Given the description of an element on the screen output the (x, y) to click on. 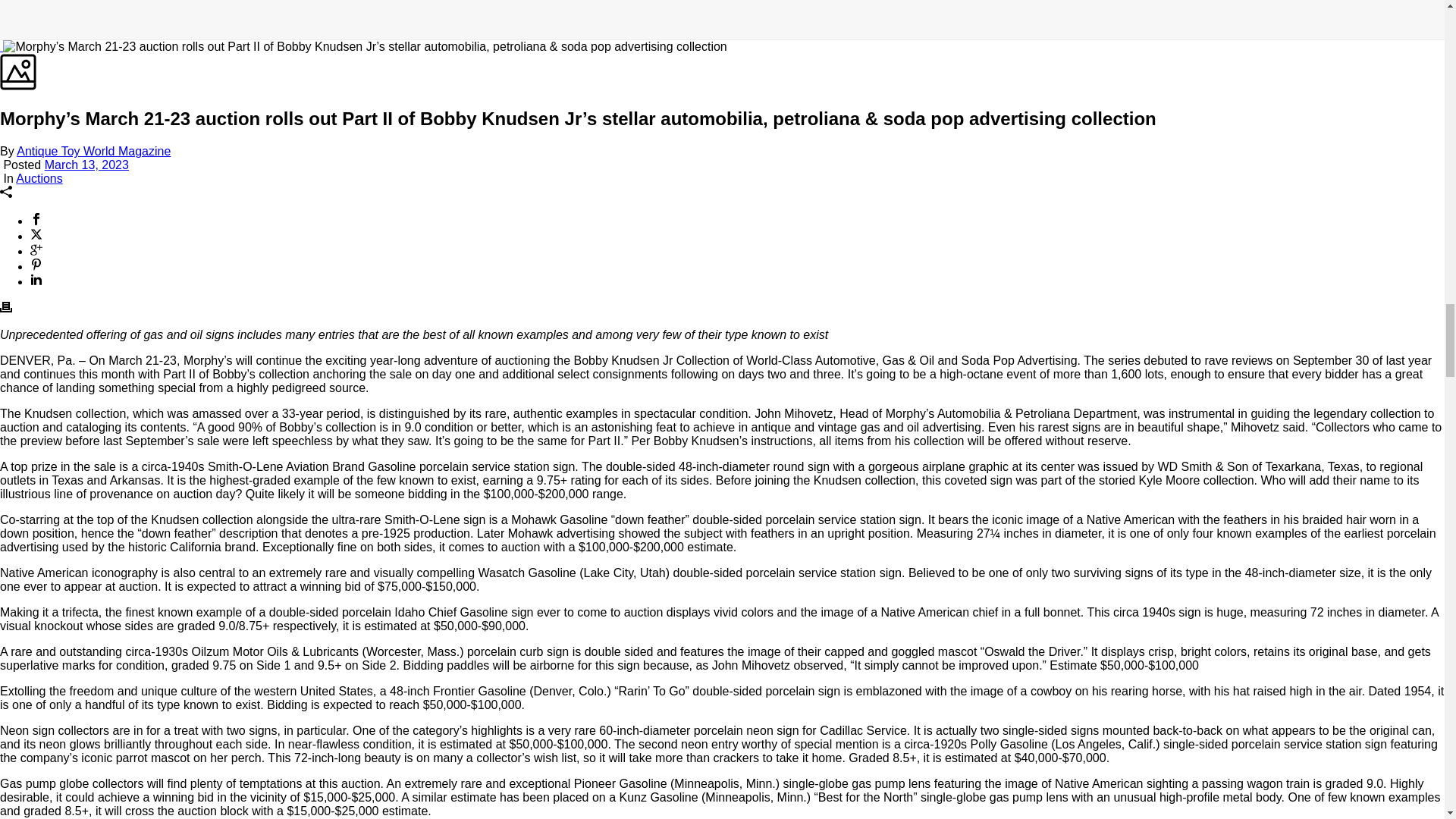
Antique Toy World Magazine for July 2024 (411, 570)
SPOTLIGHT ON COMIC CHARACTER (1031, 665)
Morphy Live (837, 358)
ANTIQUE TOY WORLD MAGAZINE FOR JULY 2024 (411, 665)
www.morphyauctions.com (1054, 382)
Spotlight on Comic Character (1031, 570)
